Given the description of an element on the screen output the (x, y) to click on. 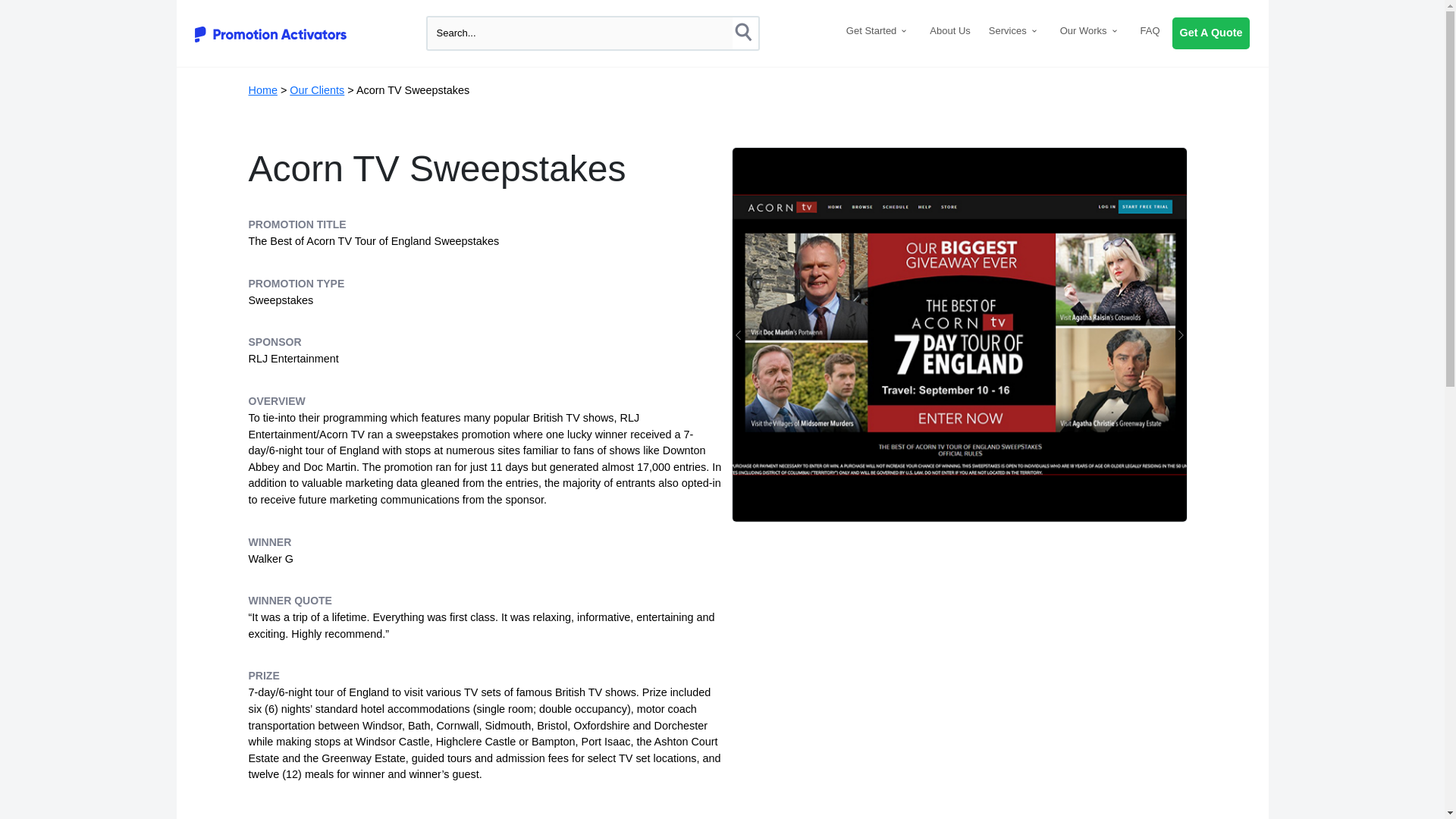
Services (1015, 31)
Get Started (878, 31)
Our Works (1091, 31)
Get A Quote (1211, 33)
Home (263, 90)
Submit the search query (745, 32)
Our Clients (316, 90)
FAQ (1150, 31)
About Us (949, 31)
